Given the description of an element on the screen output the (x, y) to click on. 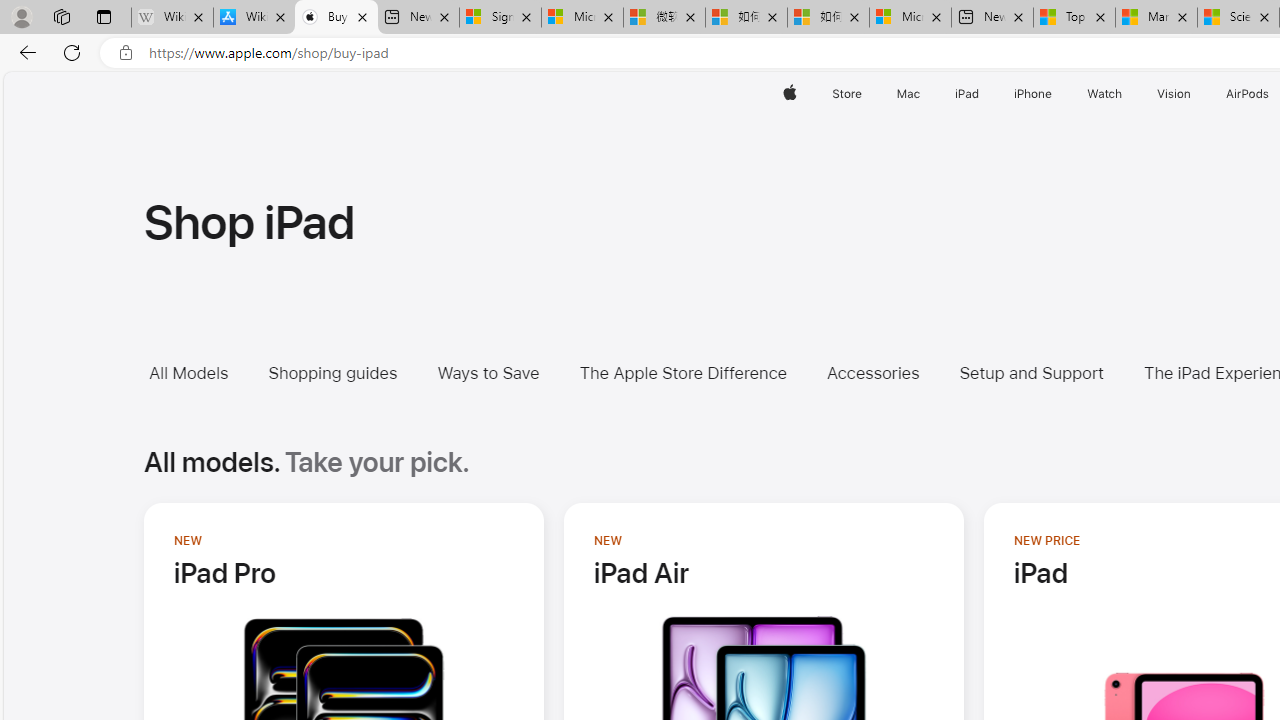
Sign in to your Microsoft account (500, 17)
iPhone menu (1055, 93)
Ways to Save (488, 372)
Store (846, 93)
Accessories (887, 372)
iPad menu (982, 93)
Store menu (864, 93)
Vision menu (1195, 93)
AirPods (1247, 93)
Shopping guides (347, 372)
iPad (965, 93)
iPhone (1033, 93)
Top Stories - MSN (1074, 17)
